Given the description of an element on the screen output the (x, y) to click on. 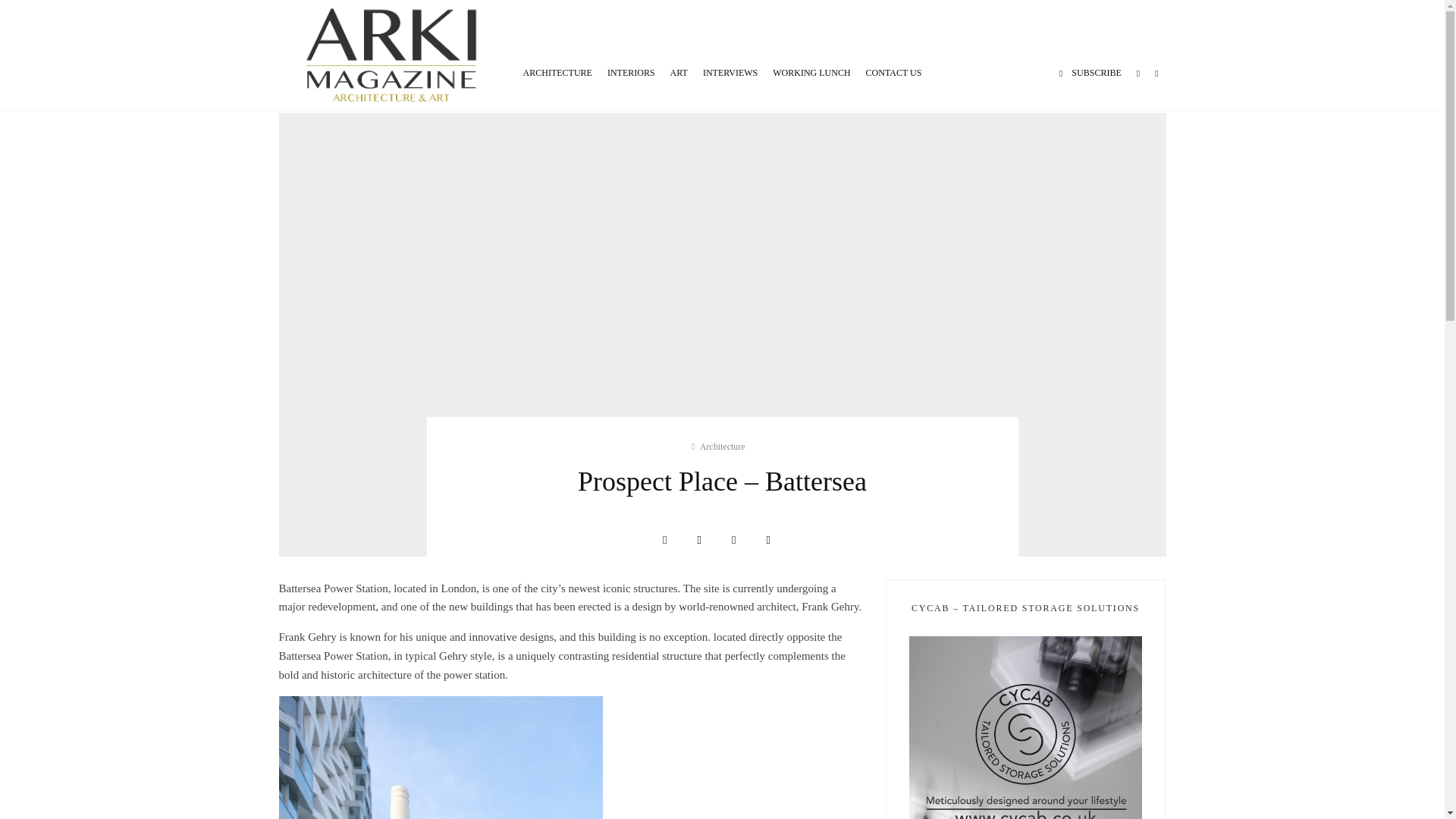
ART (678, 54)
INTERVIEWS (730, 54)
CONTACT US (894, 54)
WORKING LUNCH (811, 54)
Architecture (722, 447)
ARCHITECTURE (557, 54)
INTERIORS (630, 54)
SUBSCRIBE (1090, 54)
CYCAB - Tailored storage solutions (1024, 727)
